Given the description of an element on the screen output the (x, y) to click on. 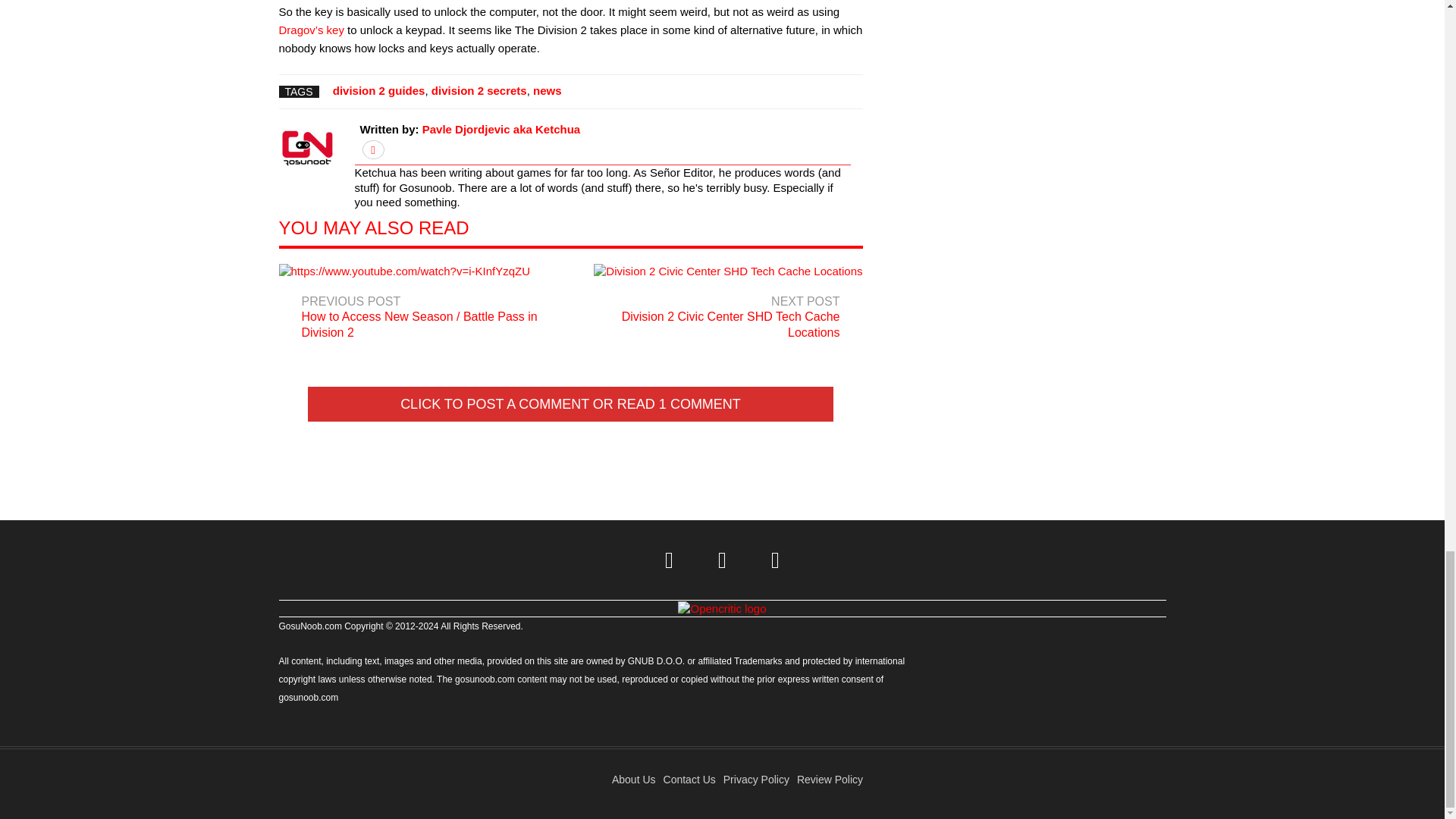
Pavle Djordjevic aka Ketchua (500, 128)
Author Twitter Profile (373, 149)
Twitter Profile (669, 559)
Facebook Profile page (722, 559)
division 2 guides (379, 90)
Youtube Channel (776, 559)
news (719, 306)
division 2 secrets (547, 90)
